Given the description of an element on the screen output the (x, y) to click on. 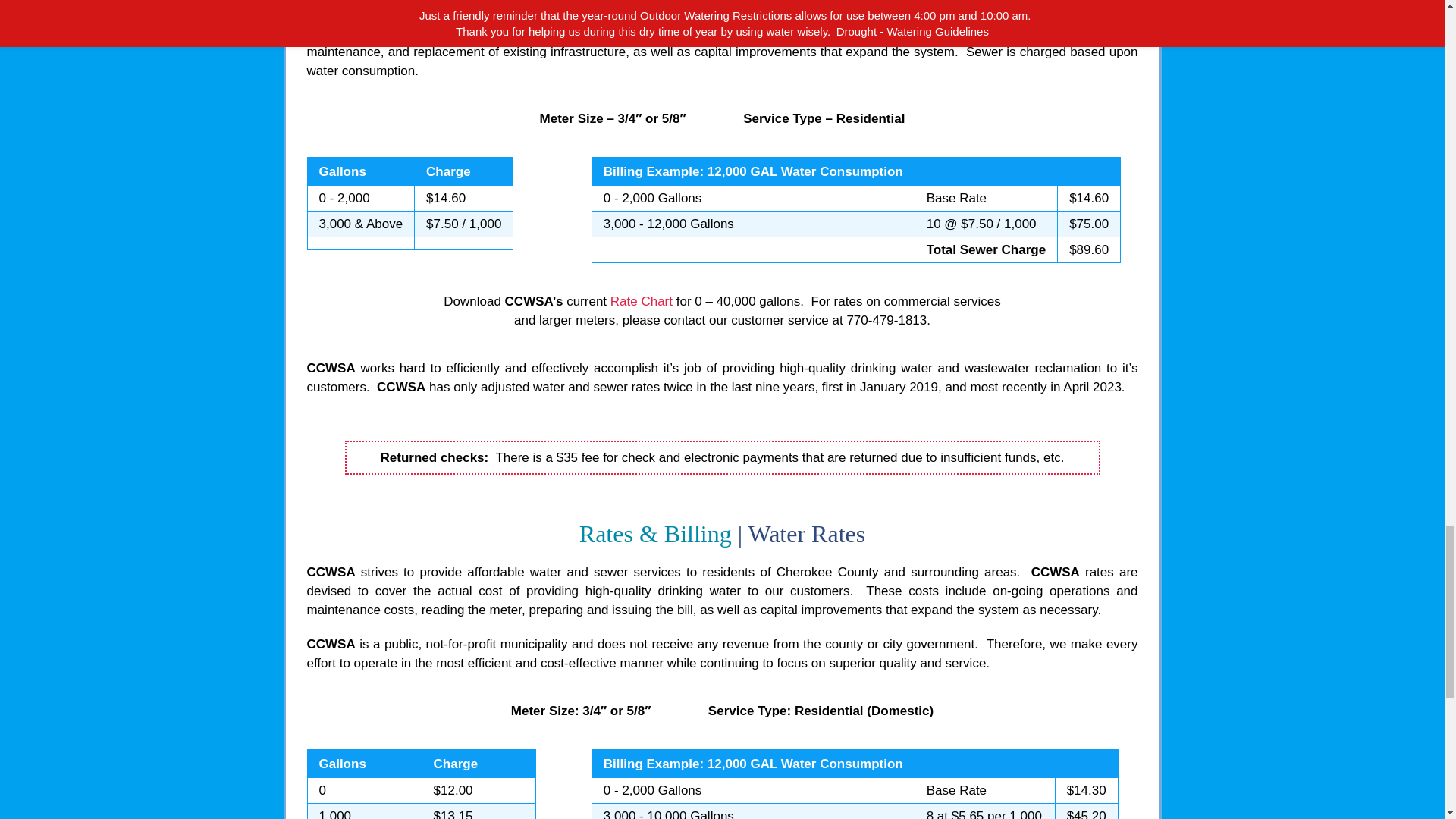
Rate Chart (641, 301)
